Given the description of an element on the screen output the (x, y) to click on. 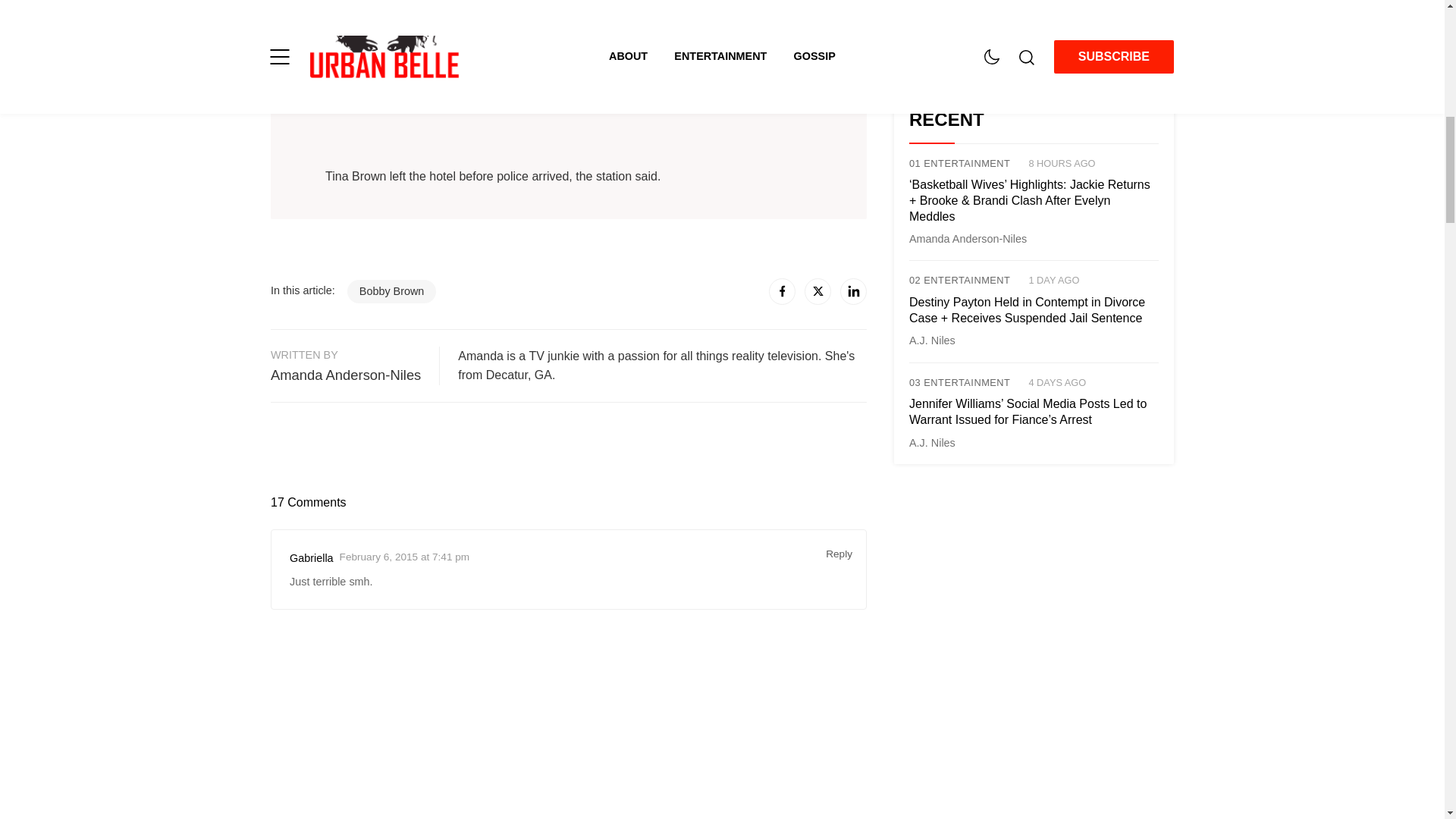
Posts by Amanda Anderson-Niles (967, 238)
Posts by Amanda Anderson-Niles (345, 374)
Bobby Brown (391, 291)
Bobby Brown Tag (391, 291)
